Given the description of an element on the screen output the (x, y) to click on. 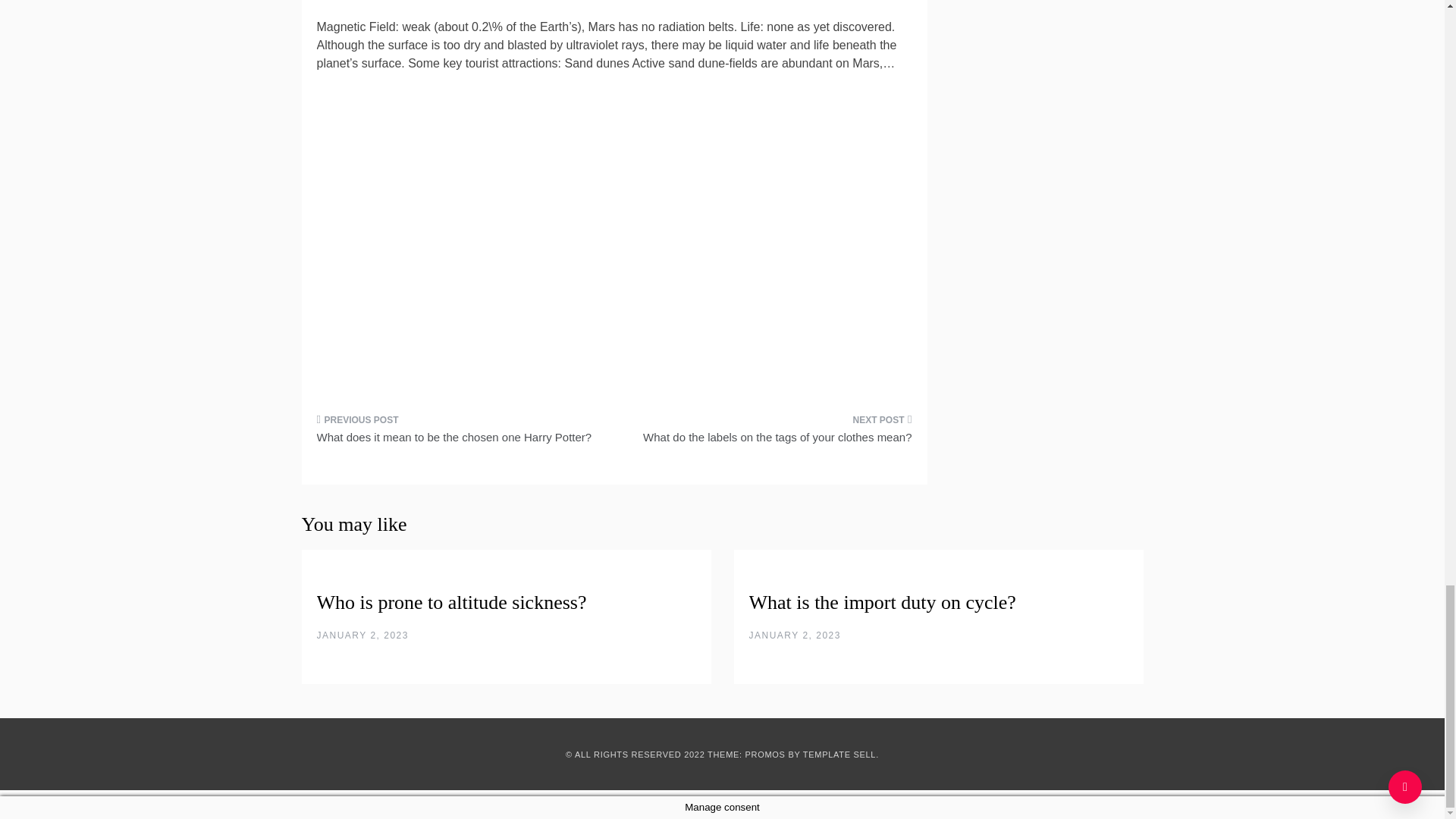
Who is prone to altitude sickness? (451, 602)
What does it mean to be the chosen one Harry Potter? (460, 433)
What do the labels on the tags of your clothes mean? (769, 433)
